Given the description of an element on the screen output the (x, y) to click on. 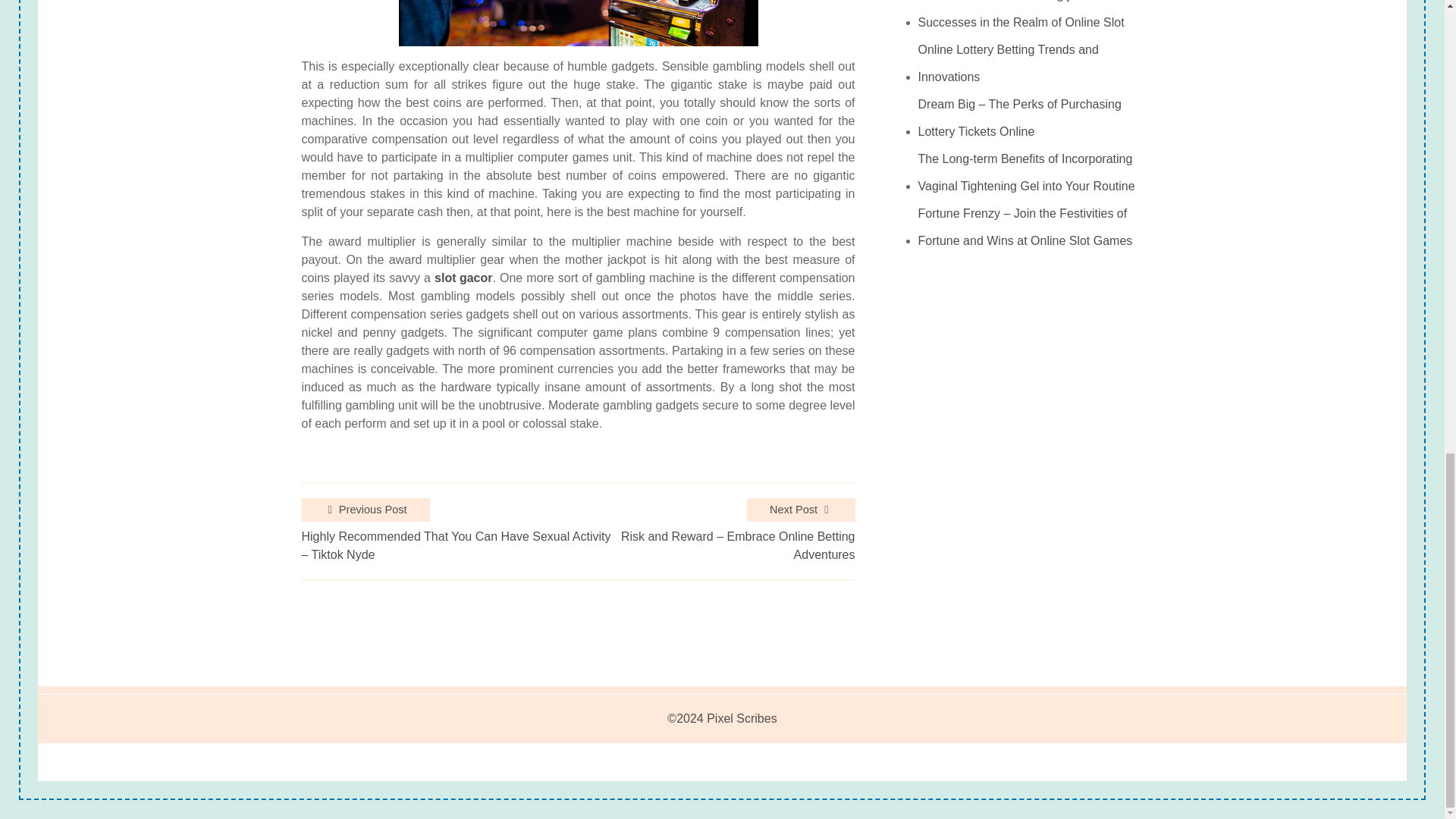
Previous Post (365, 509)
Next Post (800, 509)
Online Lottery Betting Trends and Innovations (1030, 63)
slot gacor (462, 278)
